Given the description of an element on the screen output the (x, y) to click on. 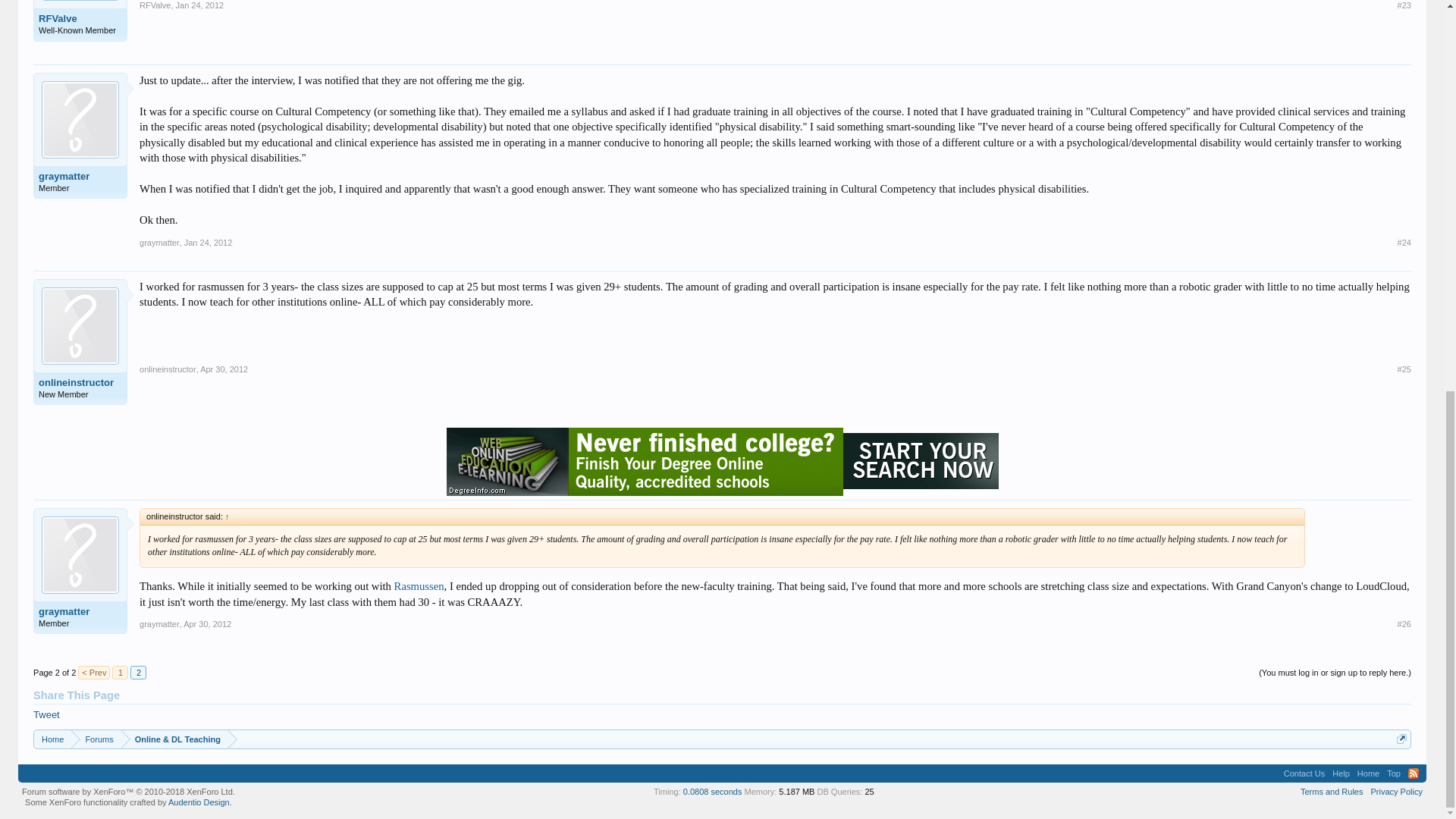
Permalink (1403, 368)
graymatter (80, 176)
Jan 24, 2012 (208, 242)
onlineinstructor (167, 368)
Apr 30, 2012 (223, 368)
Permalink (223, 368)
Permalink (1403, 242)
Jan 24, 2012 (200, 4)
Permalink (208, 242)
RFValve (154, 4)
